Given the description of an element on the screen output the (x, y) to click on. 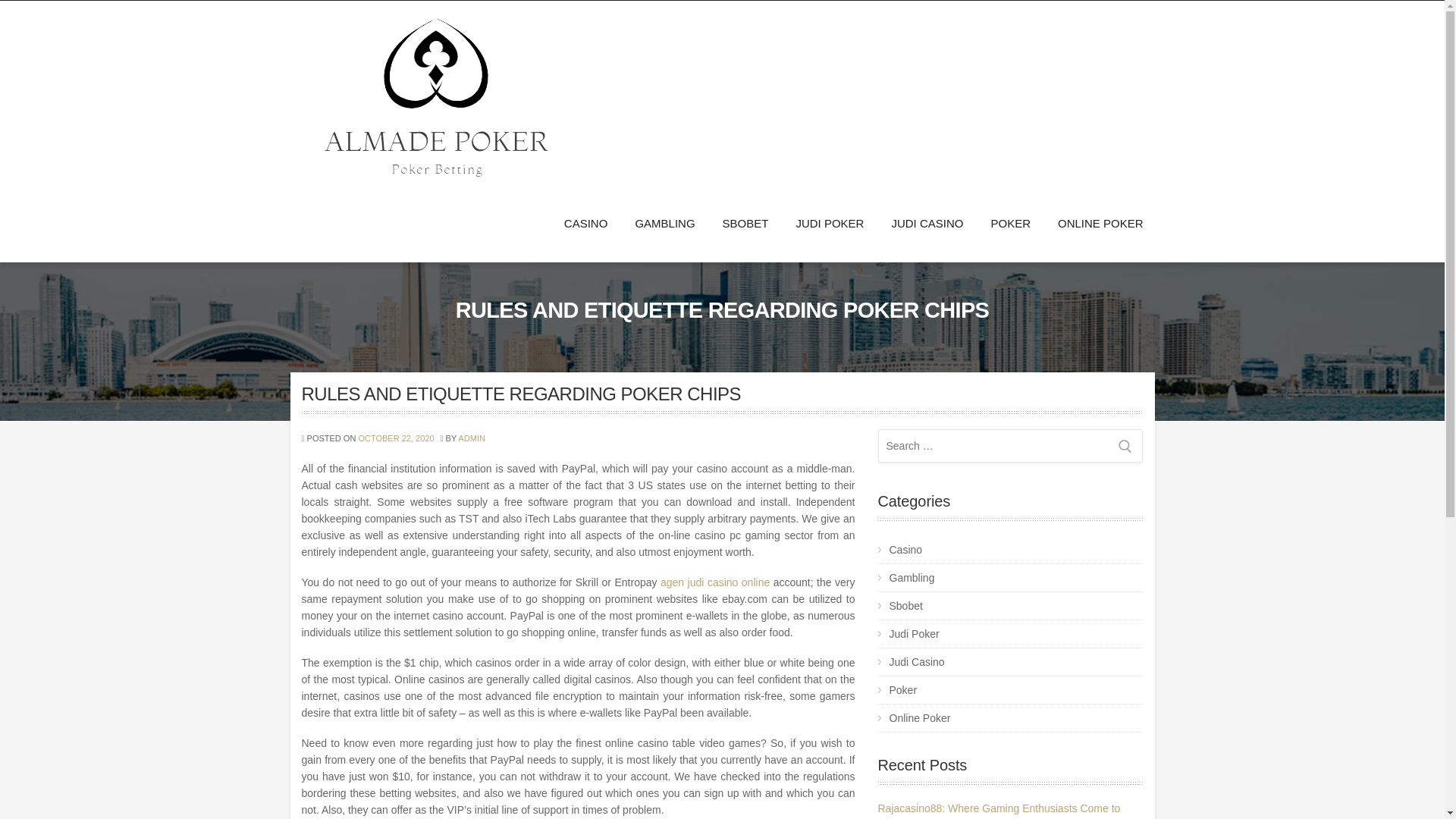
Judi Poker (1009, 633)
SBOBET (746, 223)
GAMBLING (664, 223)
Gambling (1009, 578)
JUDI POKER (829, 223)
agen judi casino online (717, 582)
ALMADE POKER (397, 195)
Search for: (1009, 445)
ONLINE POKER (1092, 223)
ADMIN (471, 438)
